Given the description of an element on the screen output the (x, y) to click on. 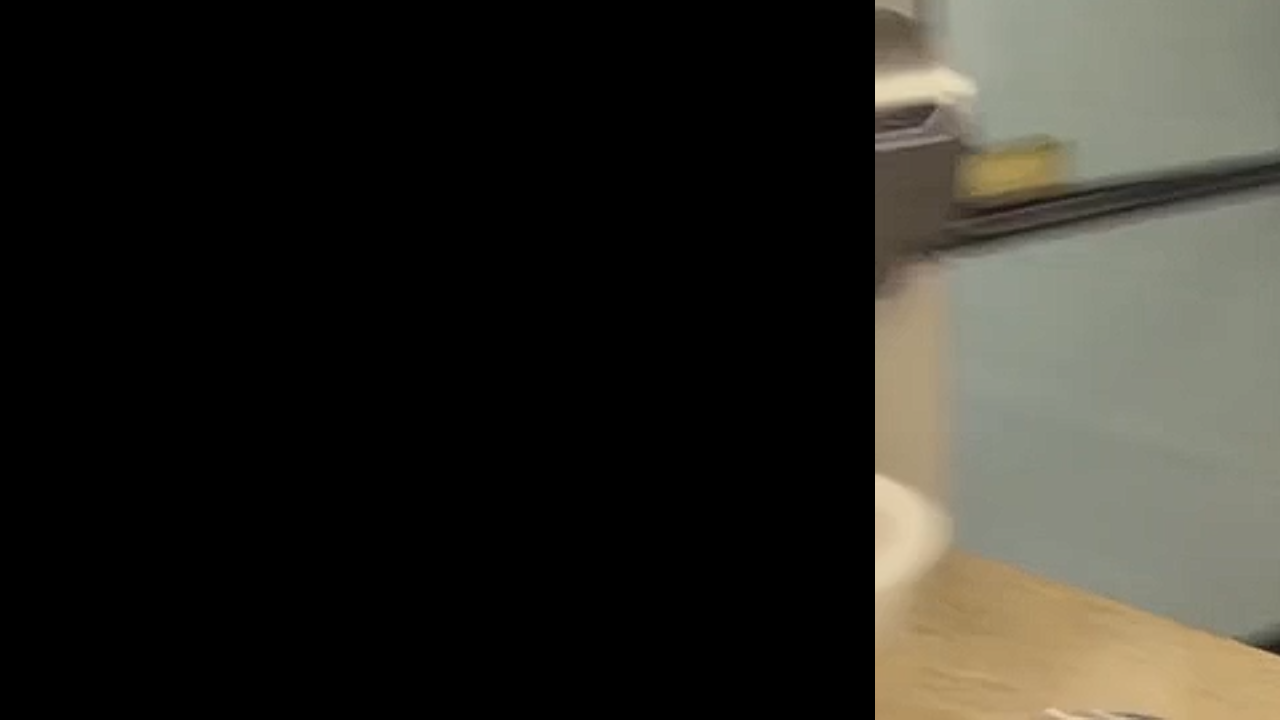
Pause (29, 697)
Seek Forward (109, 697)
Seek Back (69, 697)
